Given the description of an element on the screen output the (x, y) to click on. 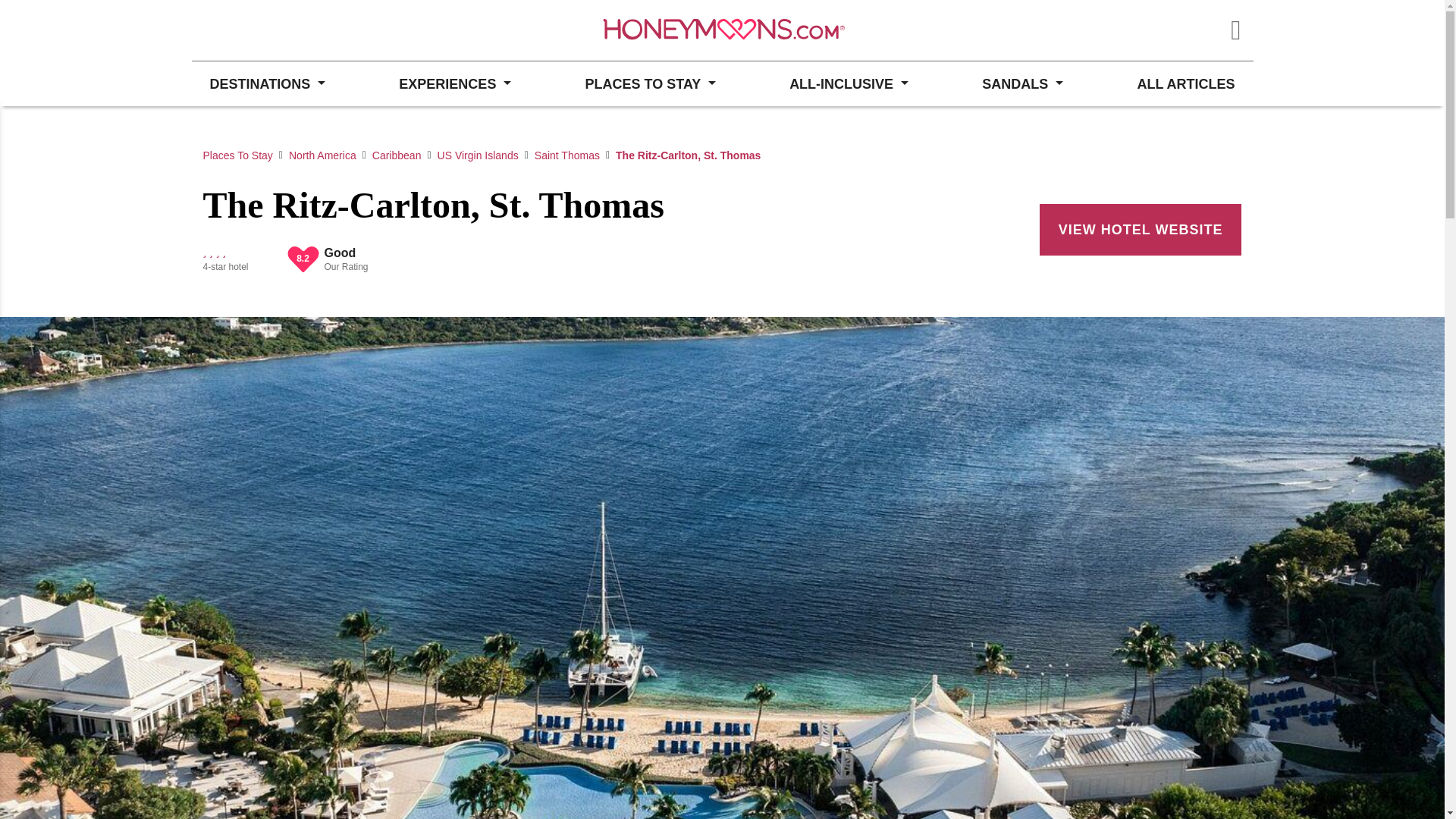
Connect With A Travel Advisor (273, 30)
DESTINATIONS (266, 84)
EXPERIENCES (454, 84)
